Given the description of an element on the screen output the (x, y) to click on. 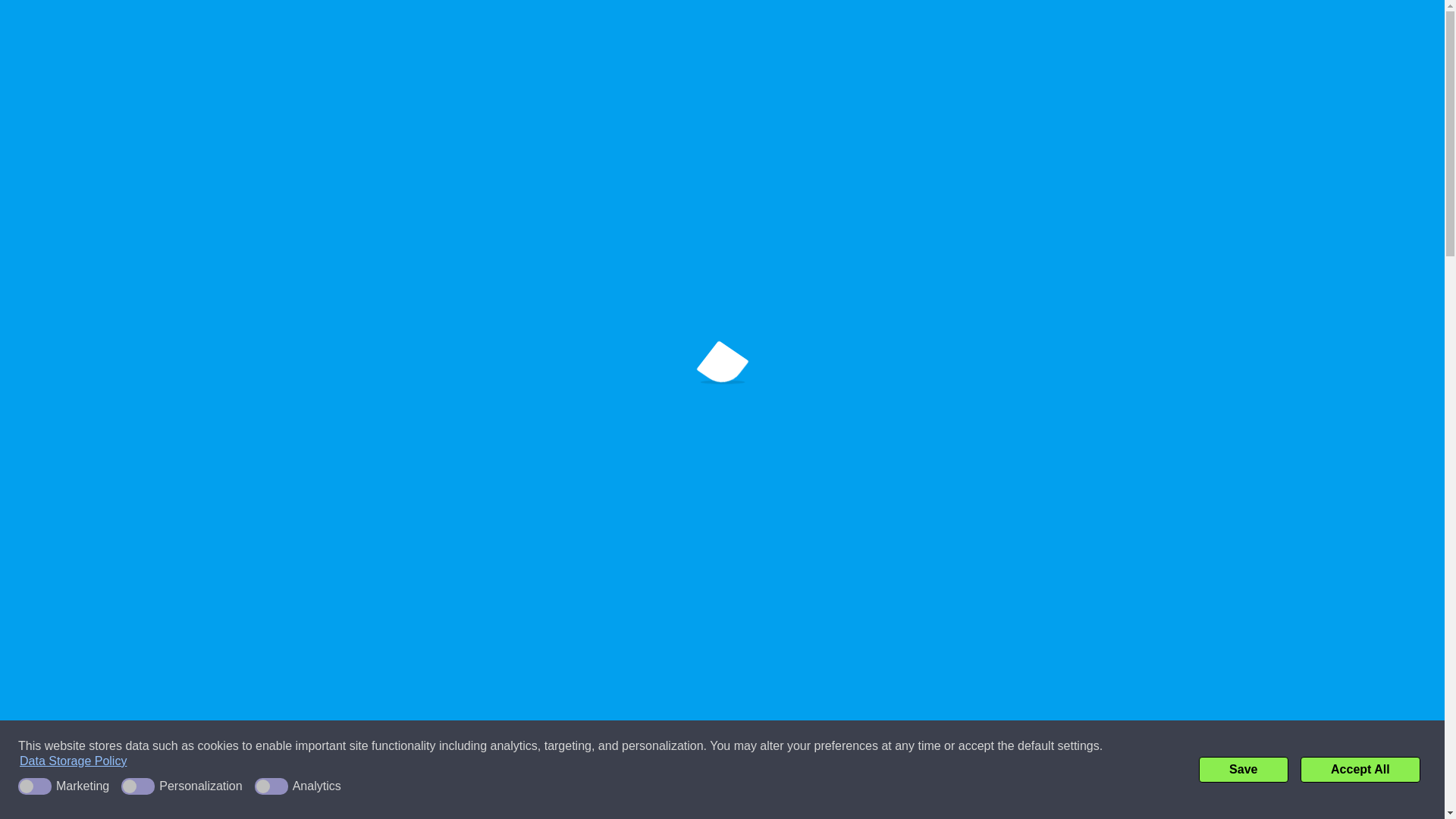
Accept All (1360, 769)
Marketing (66, 786)
Personalization (183, 786)
Partners (747, 39)
Resources (830, 39)
Save (1243, 769)
Analytics (300, 786)
Products (668, 39)
Company (586, 39)
Data Storage Policy (72, 761)
